Given the description of an element on the screen output the (x, y) to click on. 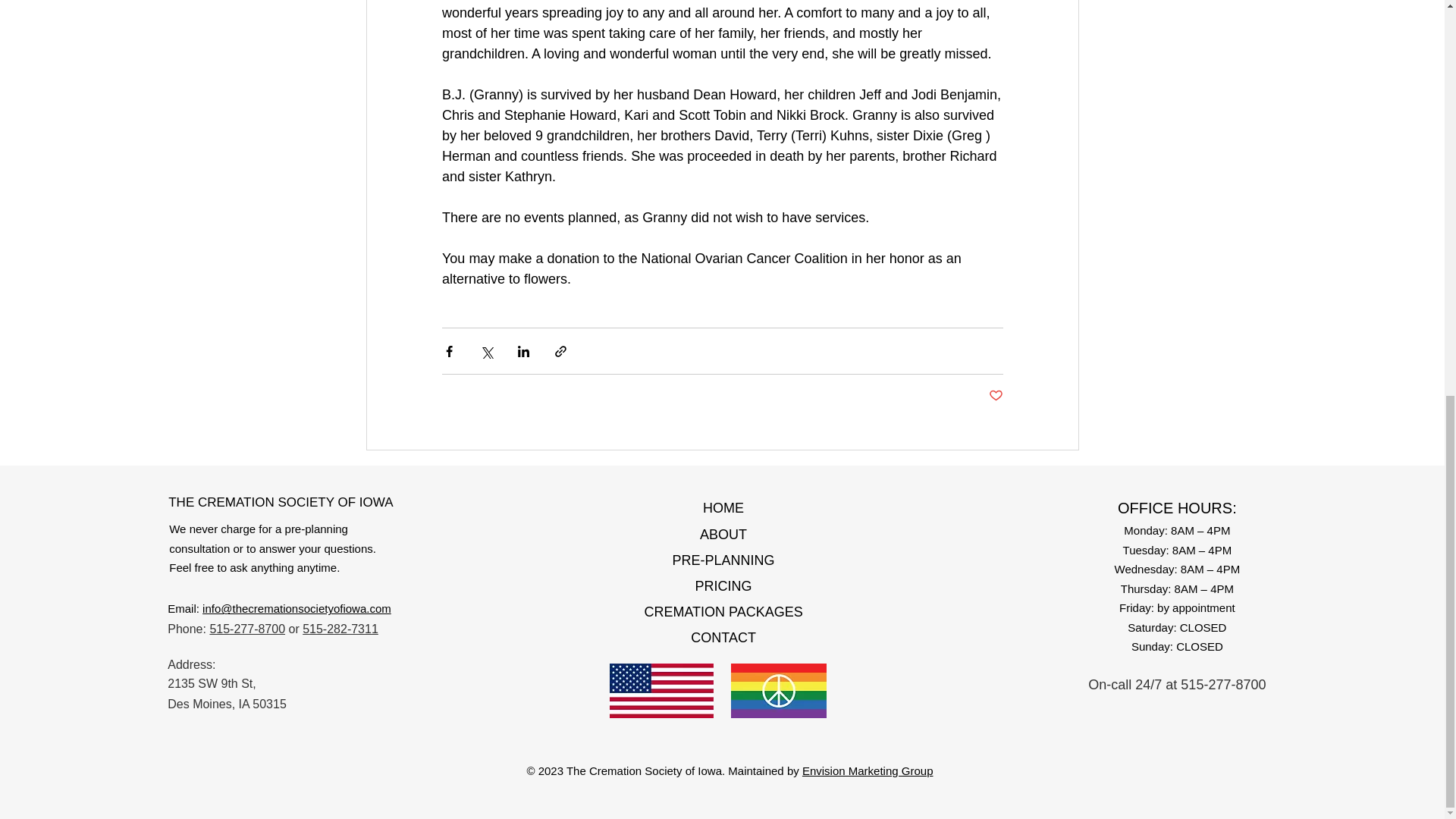
CREMATION PACKAGES (722, 611)
PRE-PLANNING (723, 560)
PRICING (723, 585)
515-277-8700 (247, 628)
HOME (723, 507)
ABOUT (723, 534)
Envision Marketing Group (867, 770)
Post not marked as liked (995, 396)
CONTACT (722, 637)
515-282-7311 (340, 628)
